Given the description of an element on the screen output the (x, y) to click on. 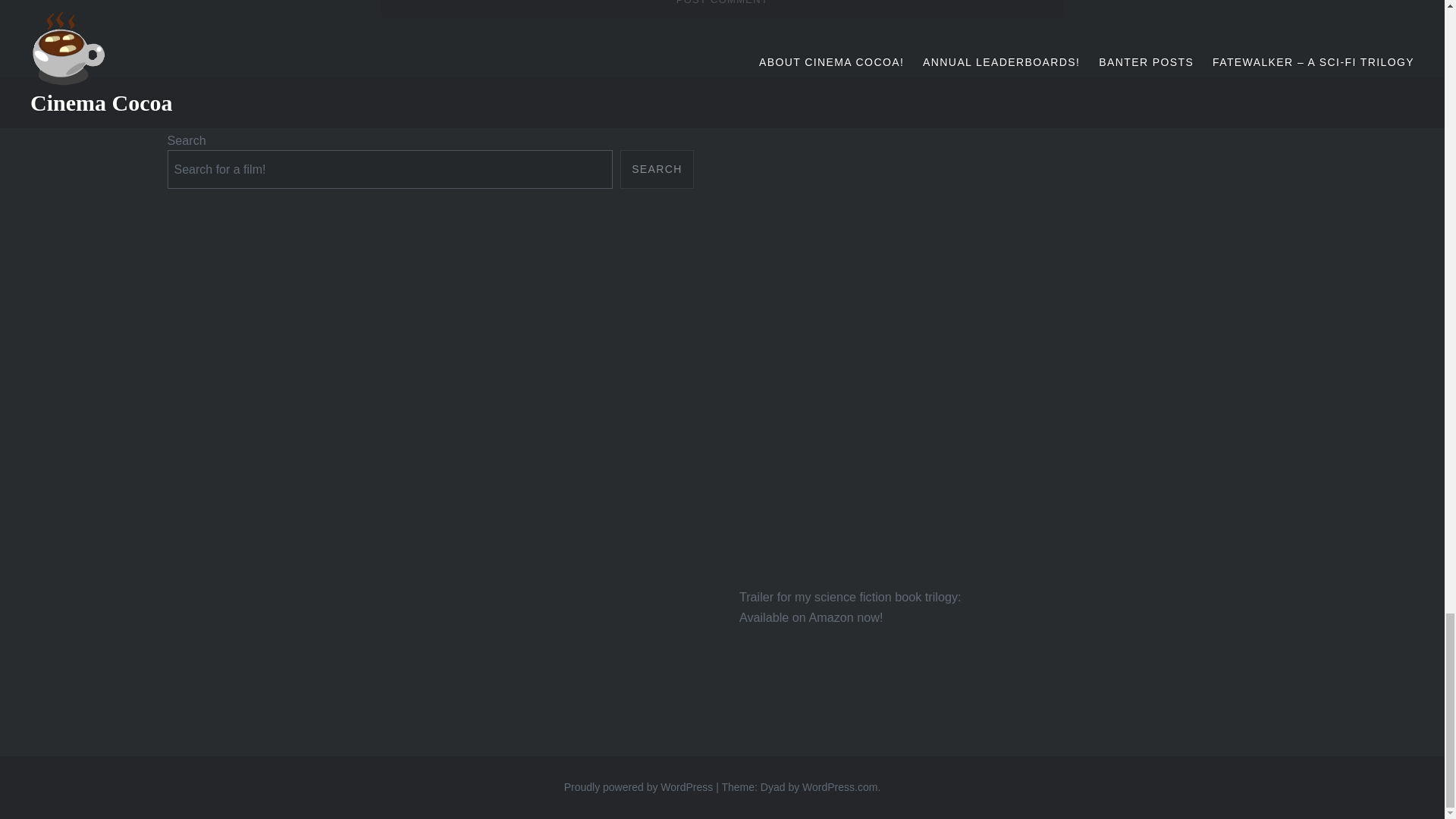
Post Comment (721, 8)
SEARCH (657, 169)
Proudly powered by WordPress (638, 787)
Post Comment (721, 8)
WordPress.com (839, 787)
